Given the description of an element on the screen output the (x, y) to click on. 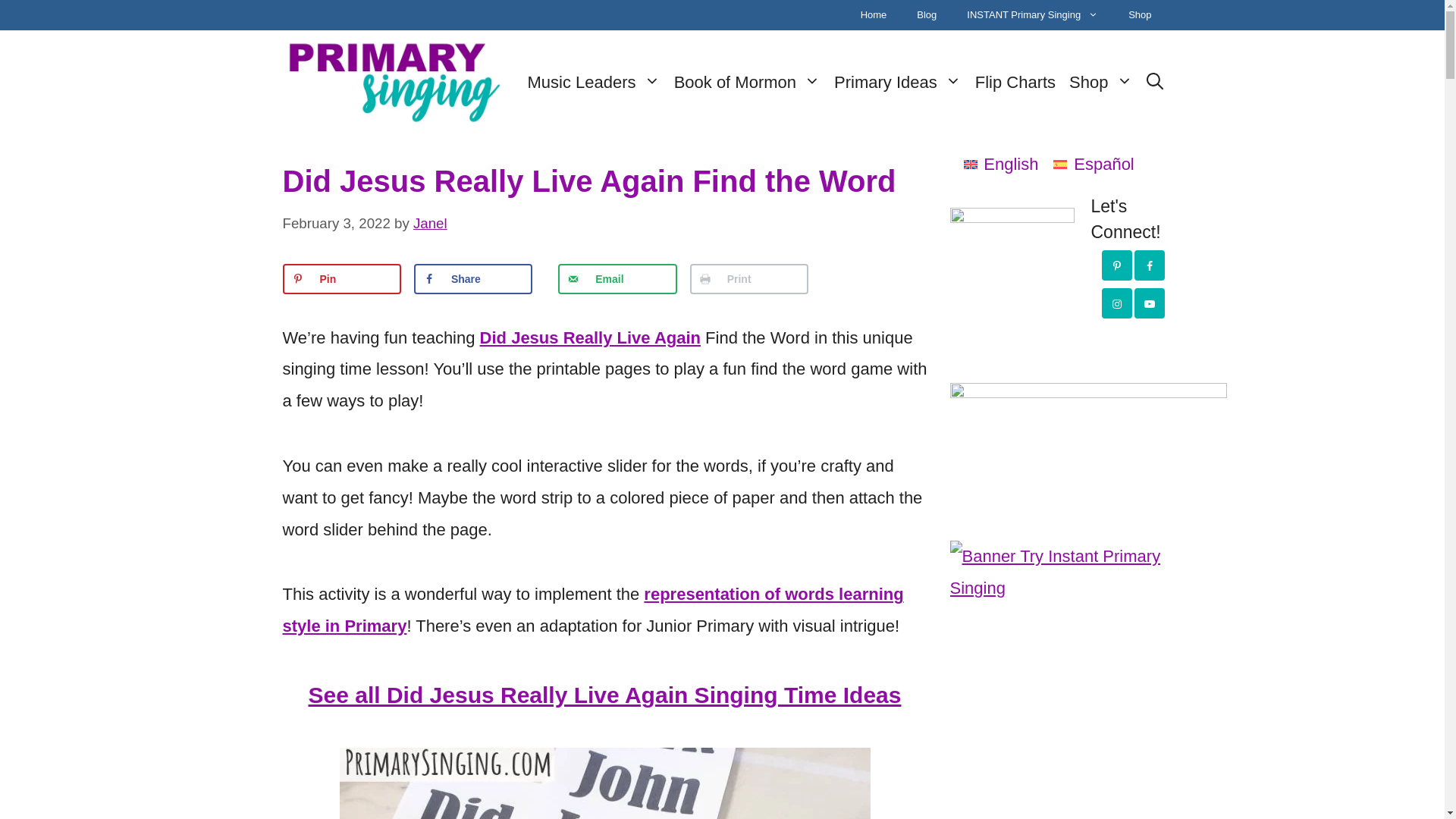
Book of Mormon (746, 82)
Blog (926, 15)
Print this webpage (749, 278)
Save to Pinterest (341, 278)
Music Leaders (593, 82)
Share on Facebook (472, 278)
View all posts by Janel (429, 222)
Shop (1139, 15)
Did Jesus Really Live Again Find the Word 1 (604, 783)
Send over email (617, 278)
INSTANT Primary Singing (1032, 15)
Home (873, 15)
